Given the description of an element on the screen output the (x, y) to click on. 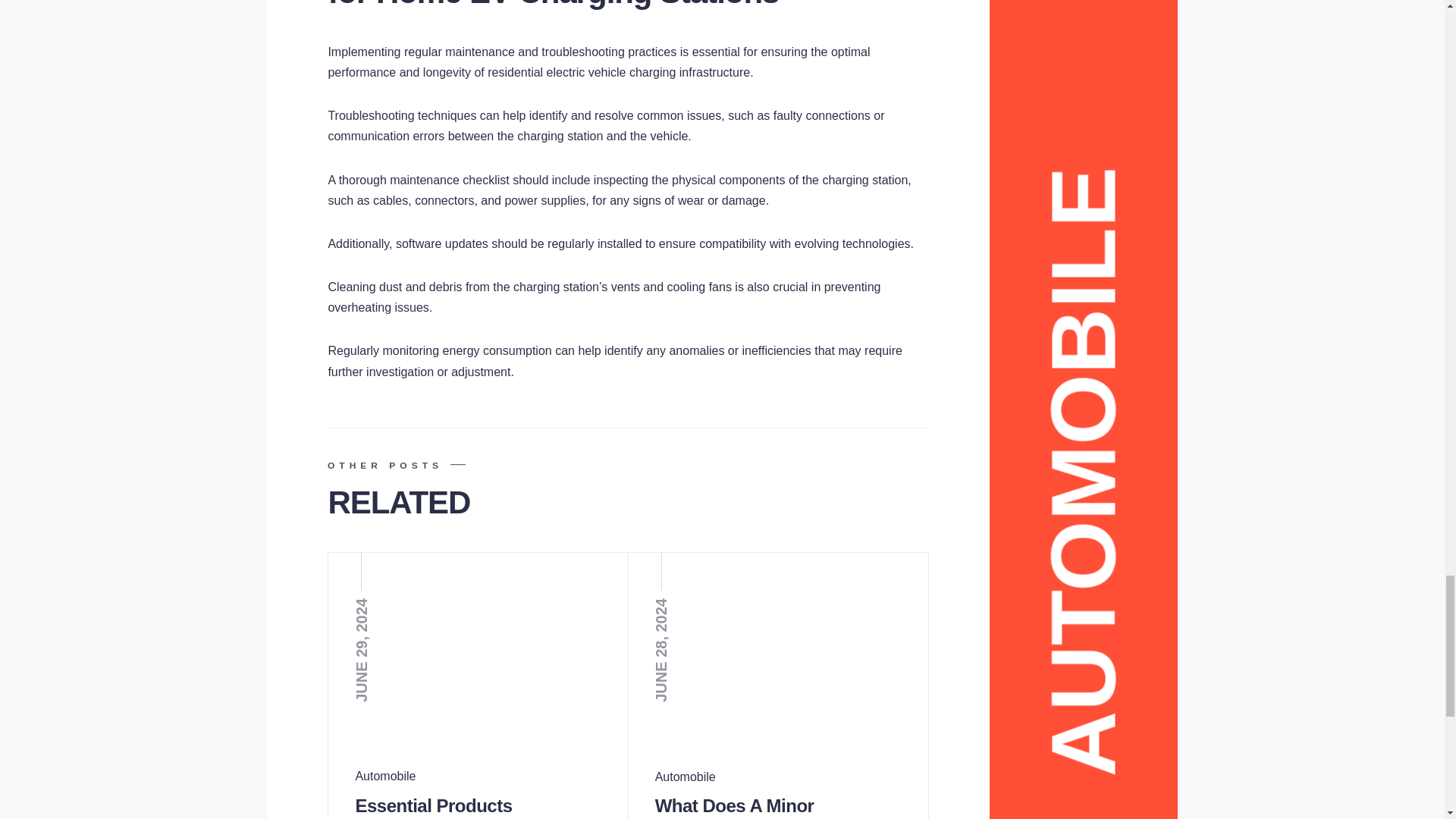
Automobile (685, 776)
Automobile (384, 775)
What Does A Minor Car Service Include? (741, 807)
